Given the description of an element on the screen output the (x, y) to click on. 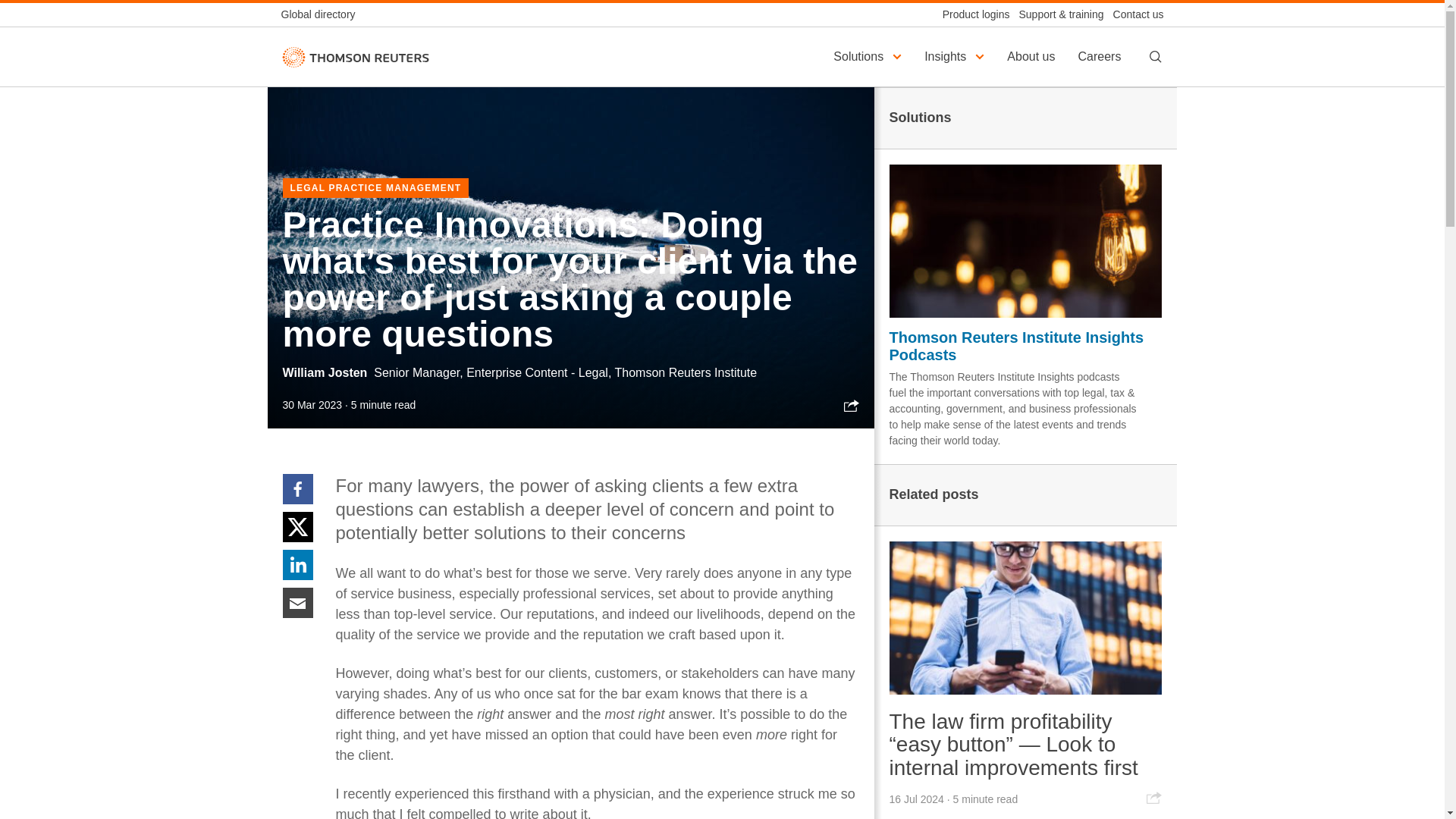
Linkedin (297, 563)
Solutions (869, 56)
Twitter (297, 525)
Facebook (297, 487)
Global directory (322, 14)
About us (1032, 56)
Contact us (1133, 14)
Insights (956, 56)
Email (297, 601)
Thomson Reuters (355, 56)
Product logins (971, 14)
Careers (1101, 56)
30 Mar 2023 (312, 404)
